Given the description of an element on the screen output the (x, y) to click on. 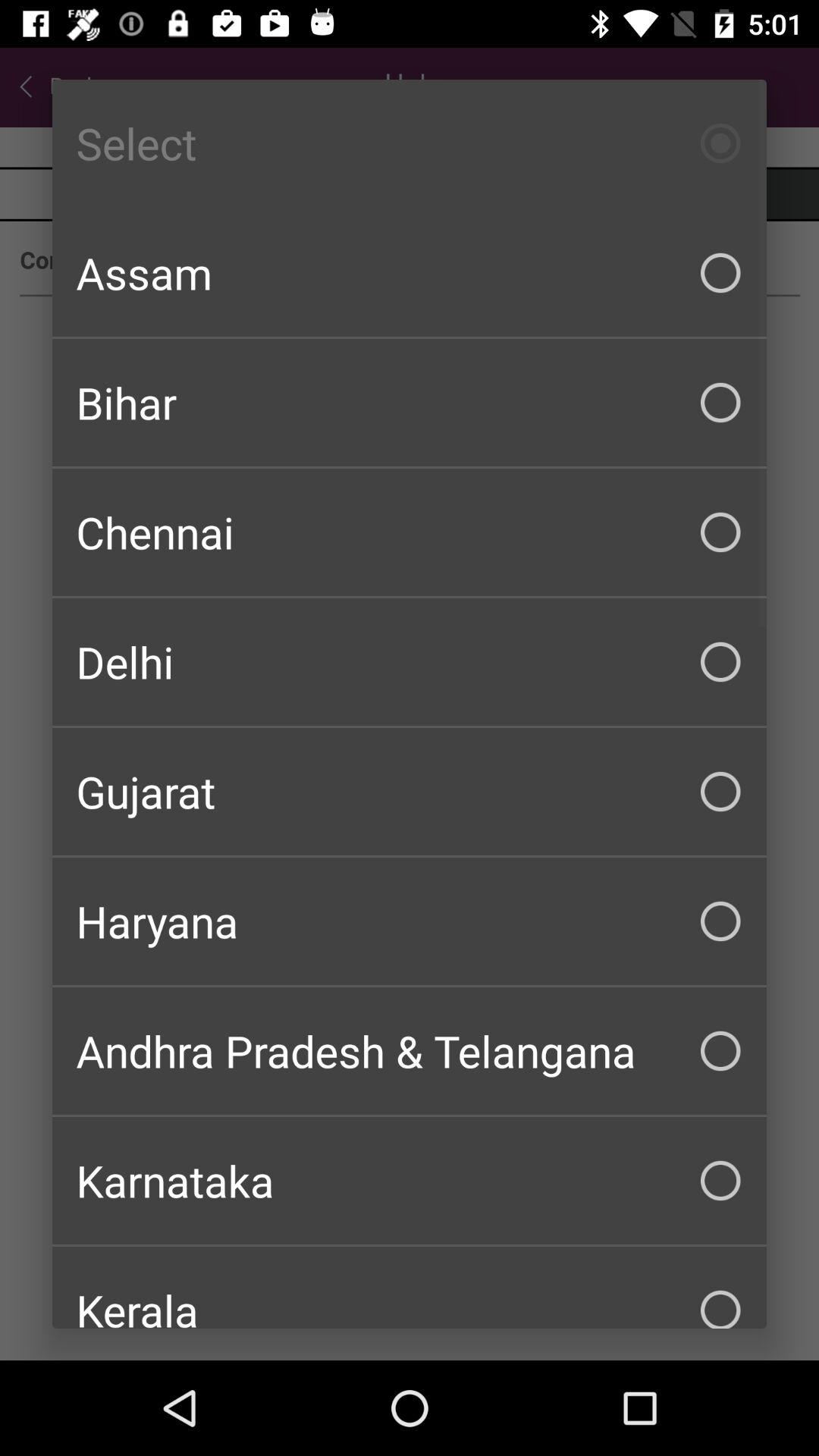
jump until the gujarat (409, 791)
